Given the description of an element on the screen output the (x, y) to click on. 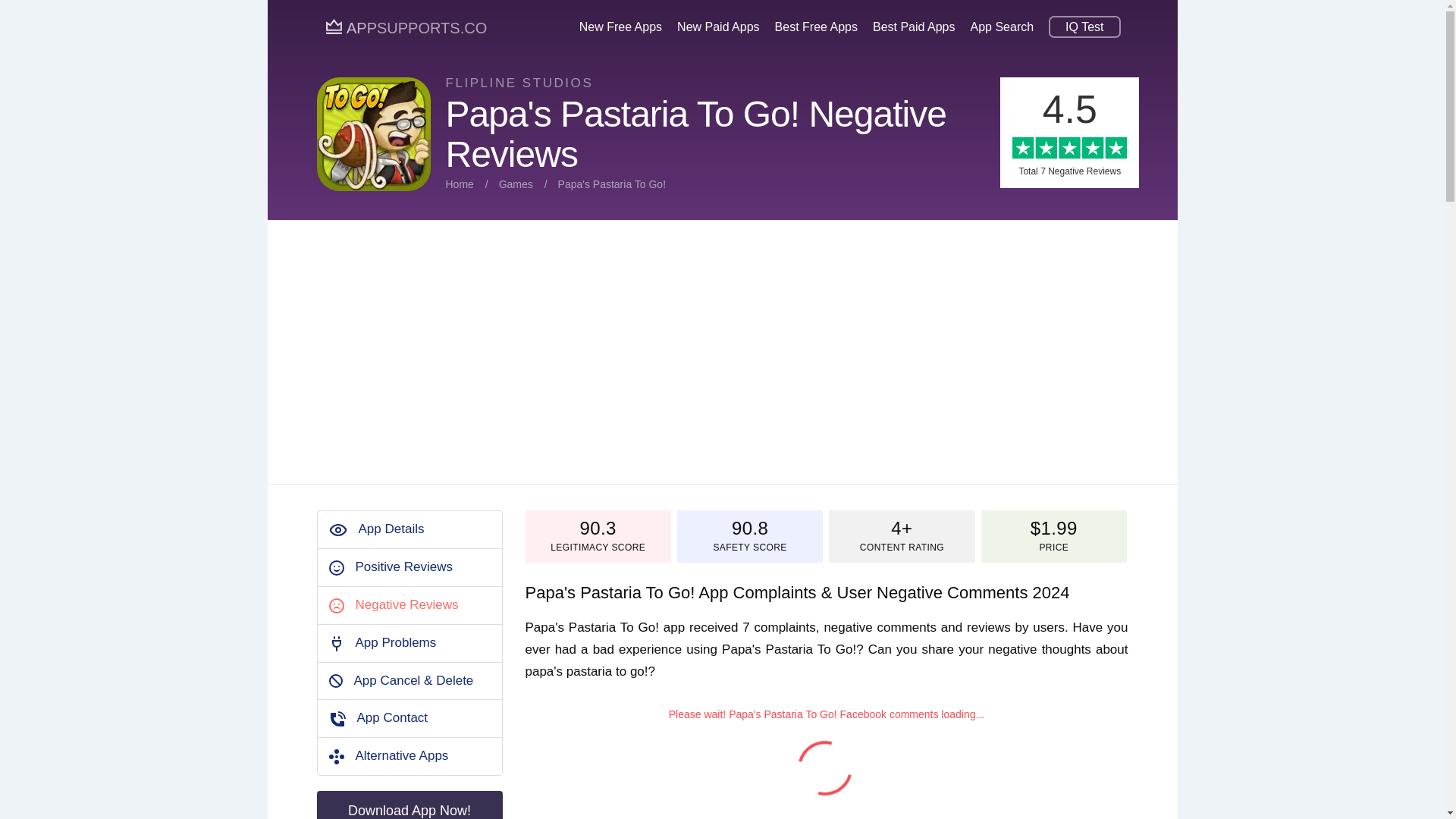
FLIPLINE STUDIOS (519, 83)
New Paid Apps (718, 28)
Flipline Studios Apps Reviews (519, 83)
New Free Apps (620, 28)
SAFETY SCORE (749, 547)
App Search (1002, 28)
Games (515, 184)
APPSUPPORTS.CO (406, 27)
Is Papa's Pastaria To Go! legit? (597, 547)
Papa's Pastaria To Go! (611, 184)
Best Free Apps (815, 28)
Best Paid Apps (913, 28)
App Support Platform (406, 27)
Is Papa's Pastaria To Go! safe? (749, 547)
Home (459, 184)
